Given the description of an element on the screen output the (x, y) to click on. 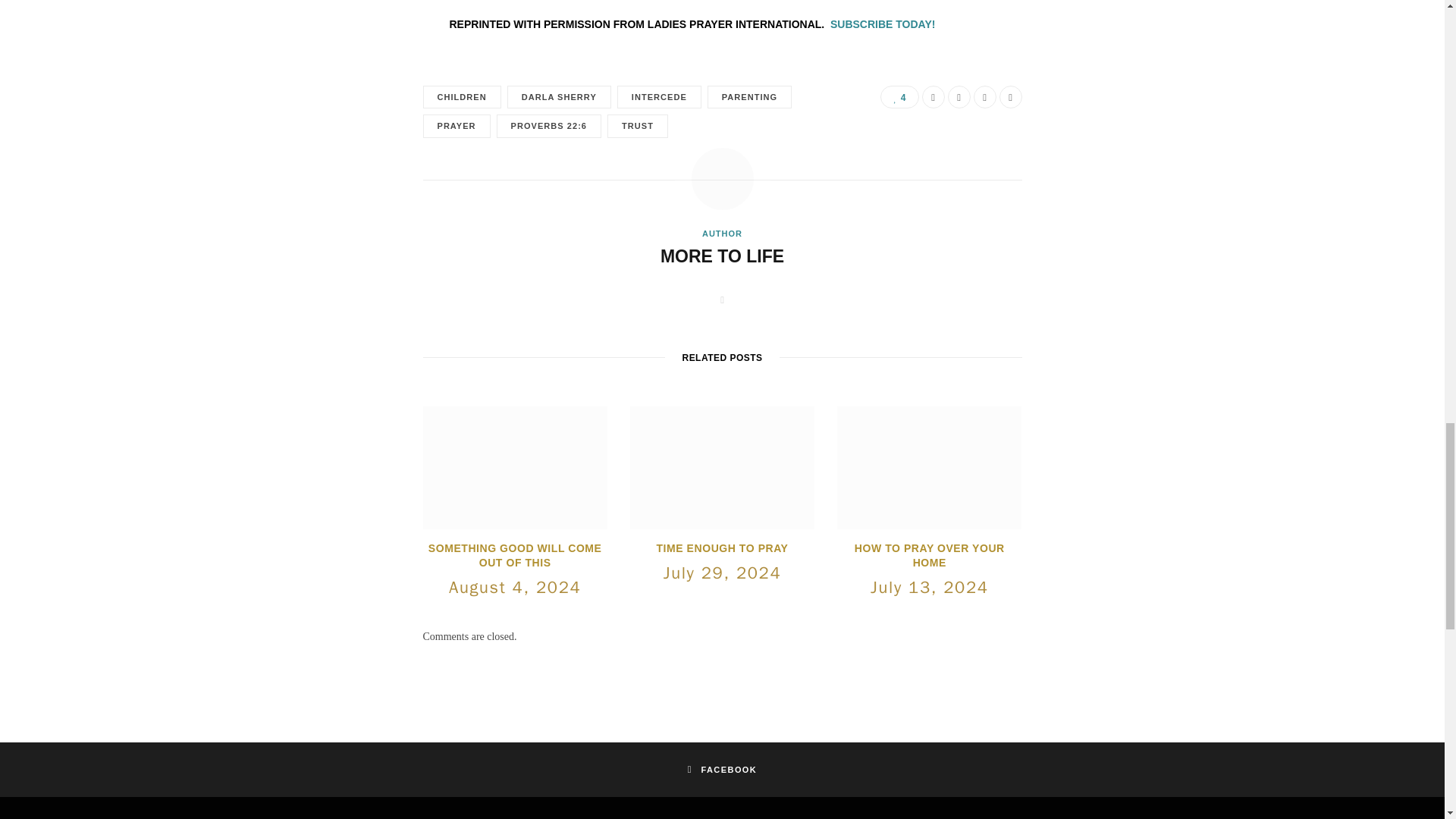
PRAYER (456, 126)
SUBSCRIBE TODAY! (881, 24)
DARLA SHERRY (558, 96)
4 (899, 96)
TRUST (637, 126)
Facebook (932, 96)
INTERCEDE (659, 96)
PARENTING (749, 96)
PROVERBS 22:6 (548, 126)
CHILDREN (461, 96)
